Given the description of an element on the screen output the (x, y) to click on. 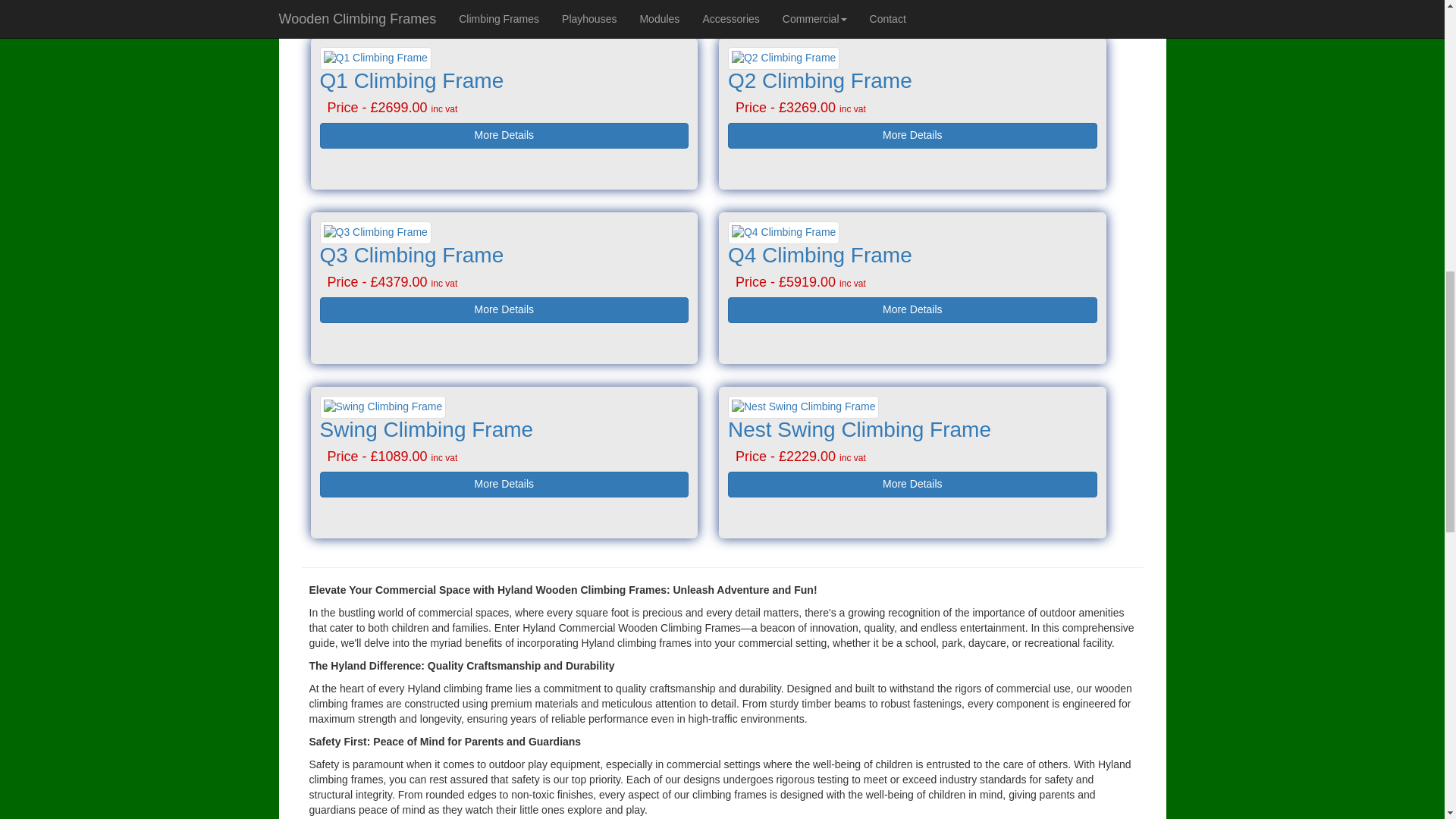
Q1 Climbing Frame (411, 80)
More Details (504, 135)
